Given the description of an element on the screen output the (x, y) to click on. 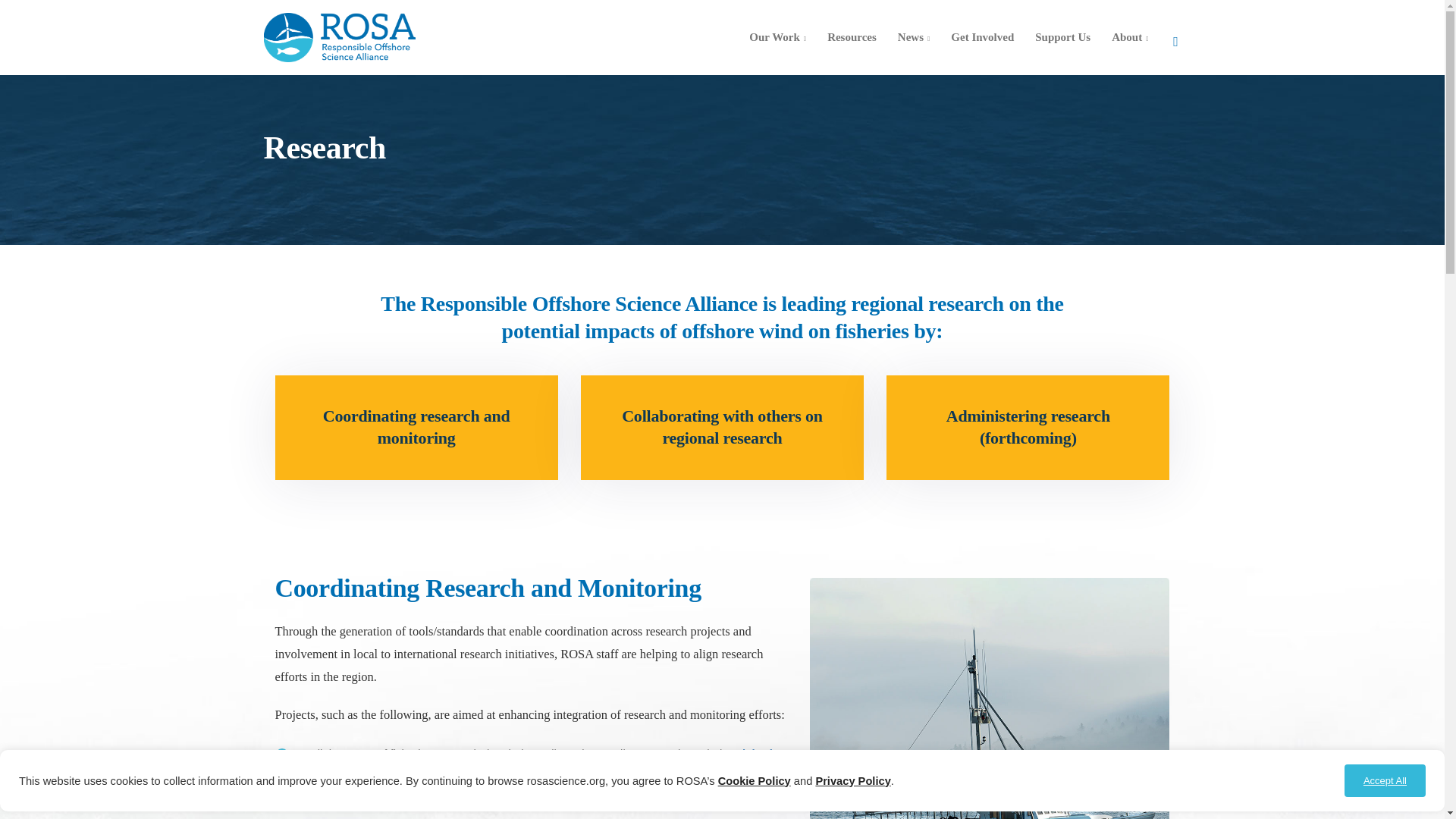
Fisheries Resource Data Project (541, 764)
Collaborating with others on regional research (721, 427)
Coordinating research and monitoring (416, 427)
Our Work (777, 37)
Get Involved (982, 37)
Support Us (1062, 37)
Offshore Wind Project Monitoring Framework and Guidelines (542, 801)
About (1129, 37)
Resources (851, 37)
